Given the description of an element on the screen output the (x, y) to click on. 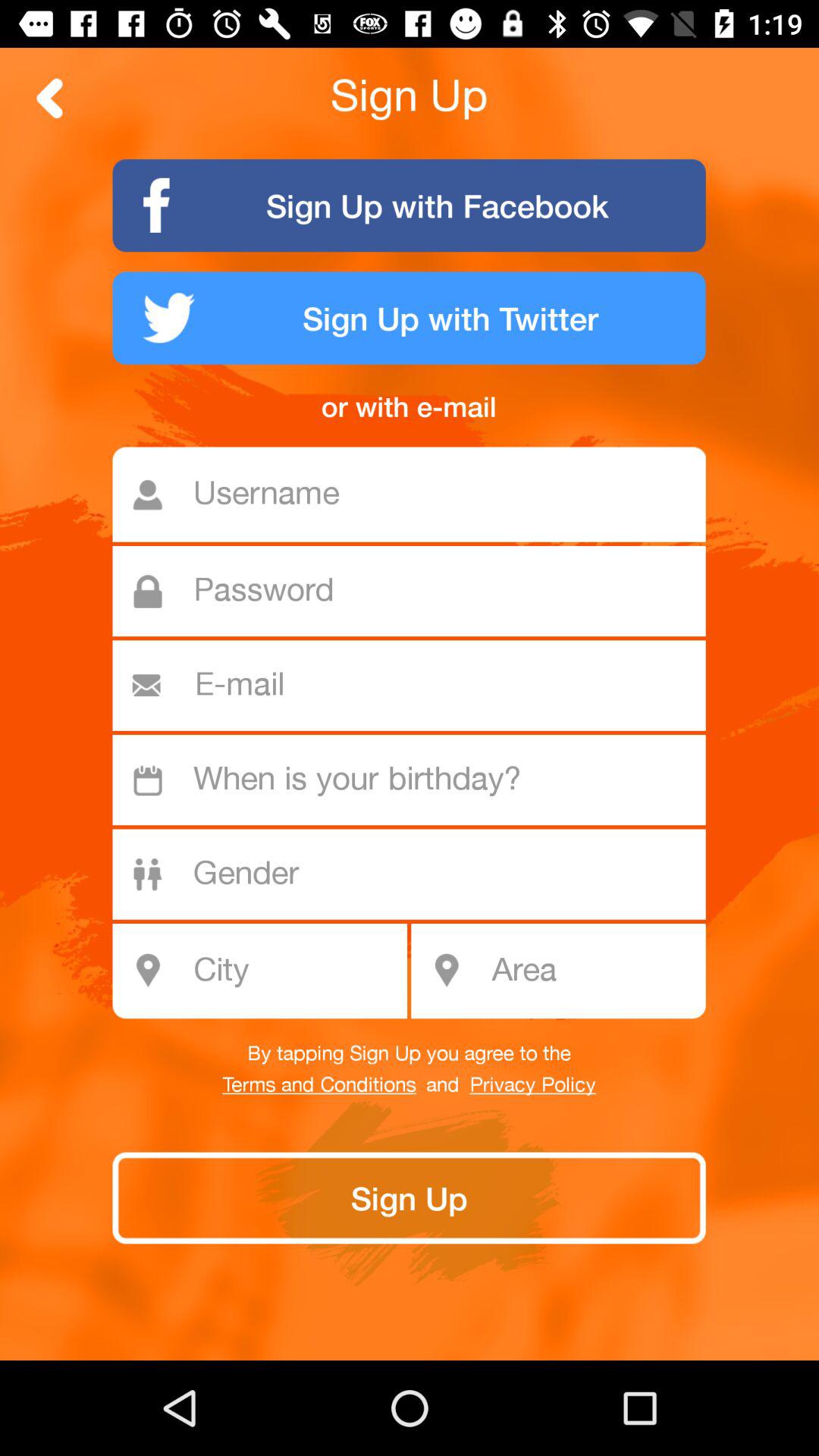
enter your password (417, 591)
